Given the description of an element on the screen output the (x, y) to click on. 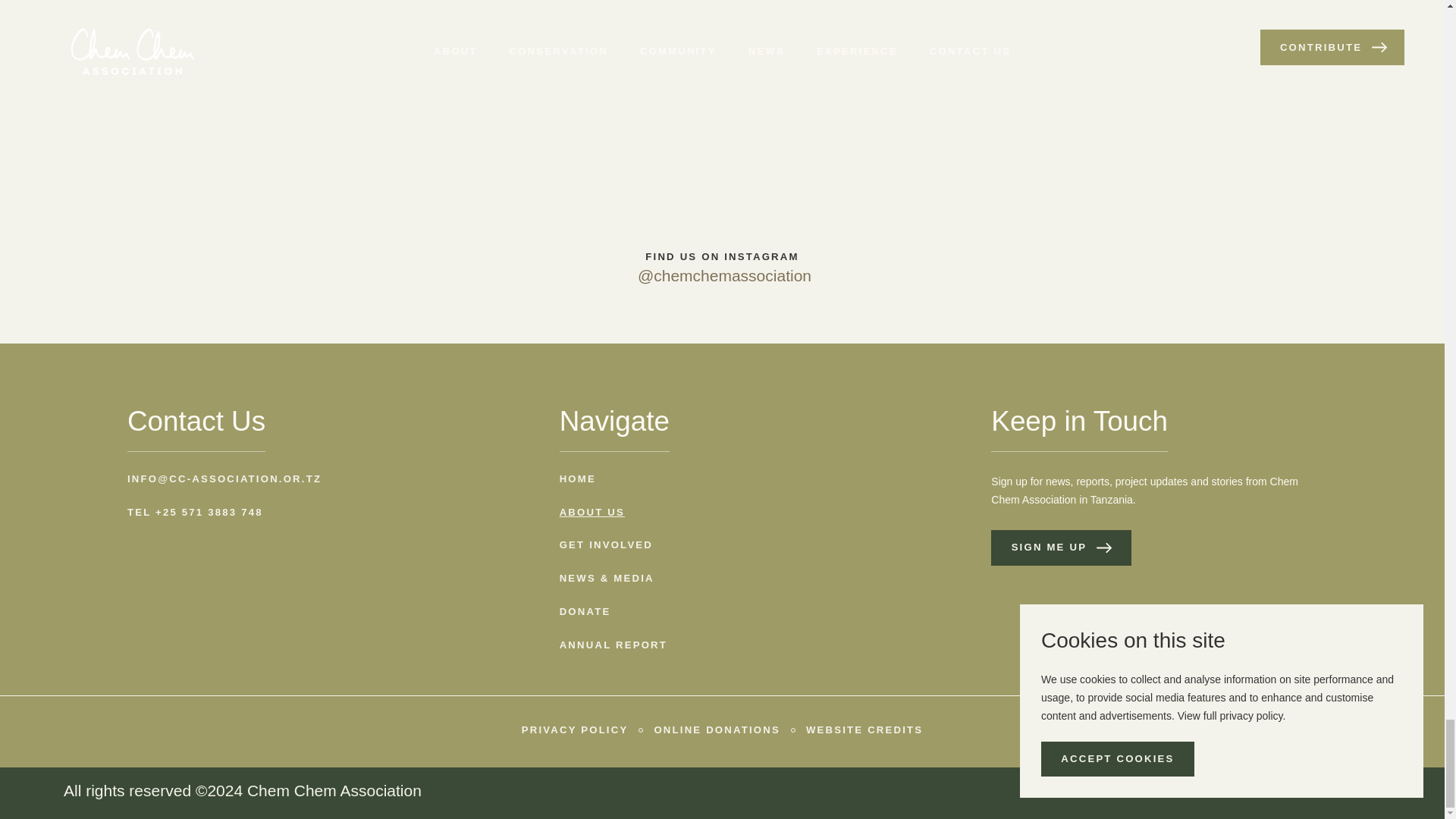
ABOUT US (591, 512)
HOME (577, 479)
sign up (778, 22)
